Given the description of an element on the screen output the (x, y) to click on. 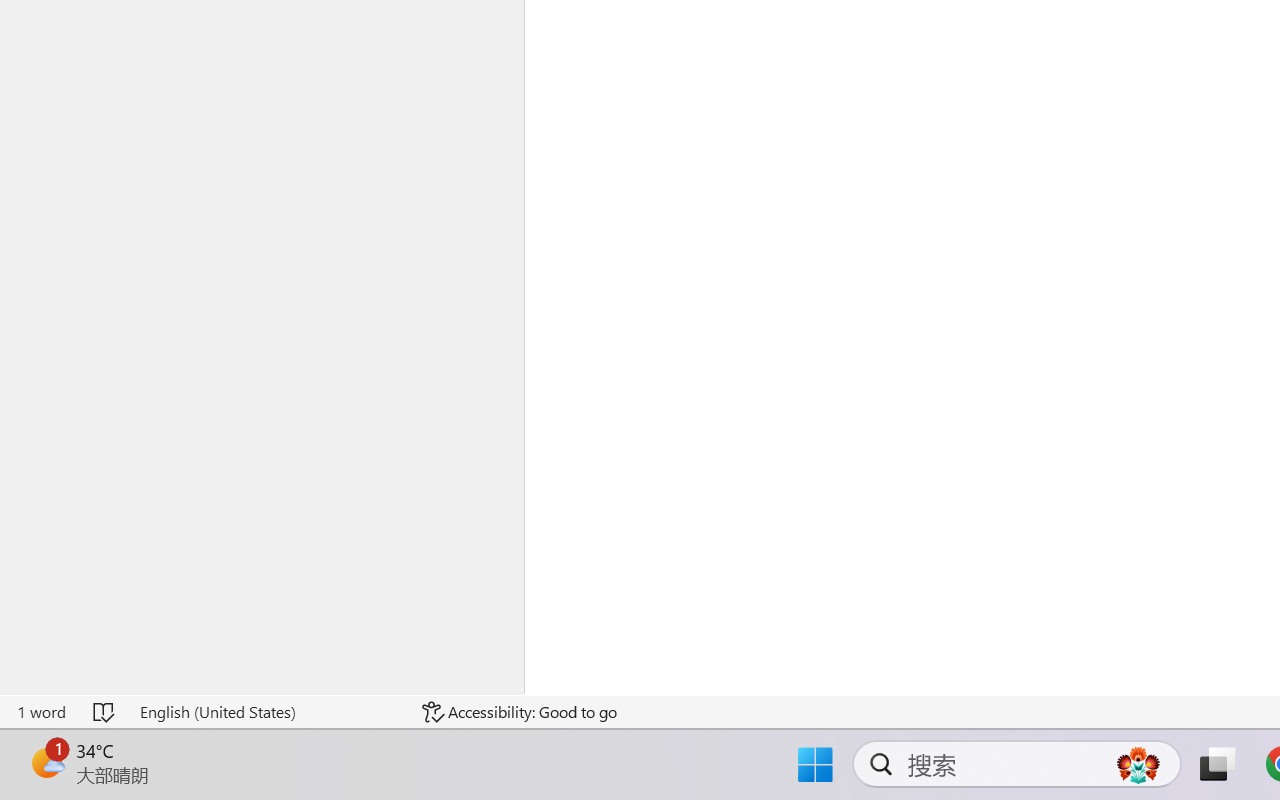
Word Count 1 word (41, 712)
Spelling and Grammar Check No Errors (105, 712)
AutomationID: BadgeAnchorLargeTicker (46, 762)
Accessibility Checker Accessibility: Good to go (519, 712)
Language English (United States) (267, 712)
AutomationID: DynamicSearchBoxGleamImage (1138, 764)
